Given the description of an element on the screen output the (x, y) to click on. 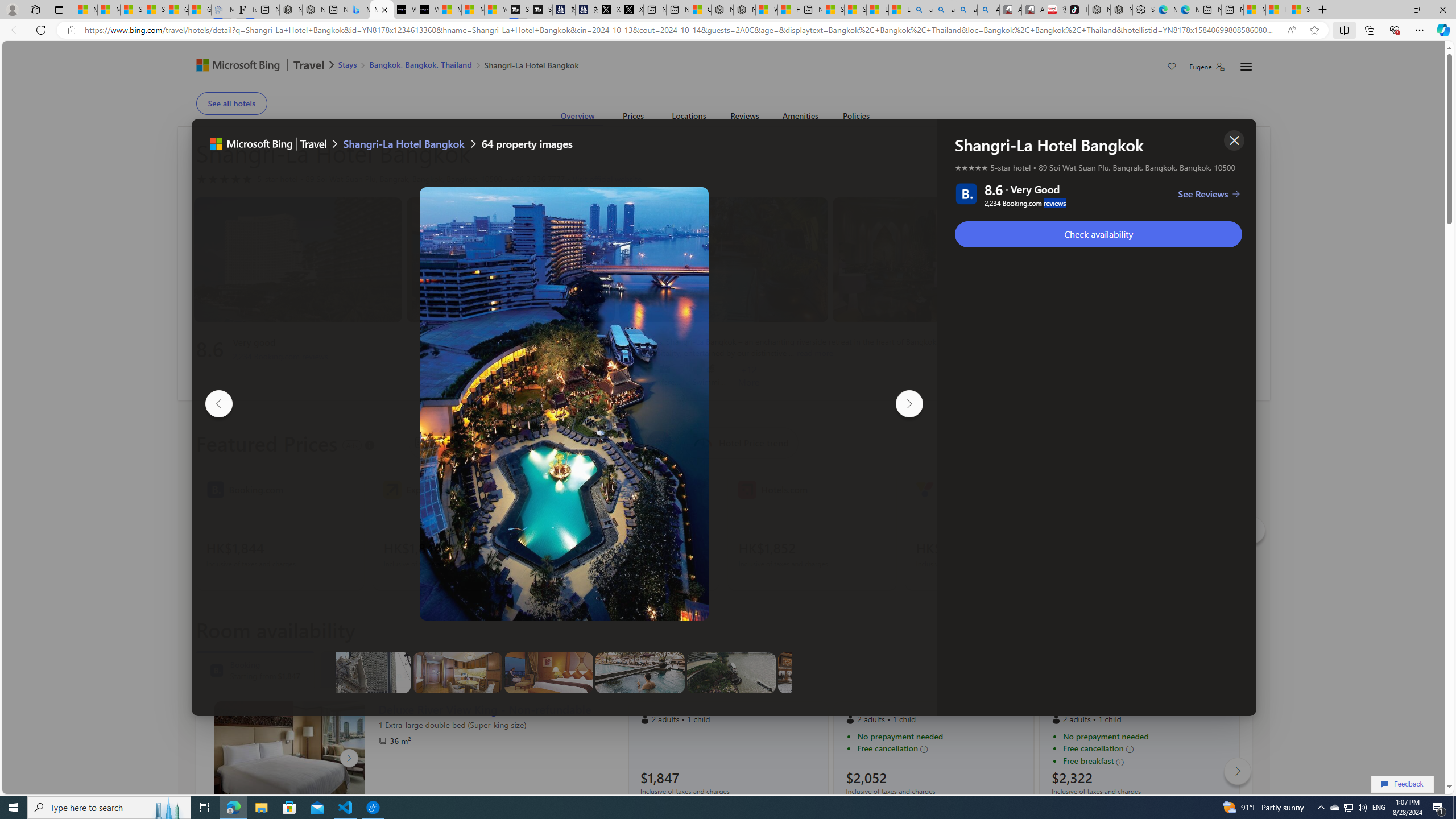
Streaming Coverage | T3 (518, 9)
Gilma and Hector both pose tropical trouble for Hawaii (199, 9)
